Given the description of an element on the screen output the (x, y) to click on. 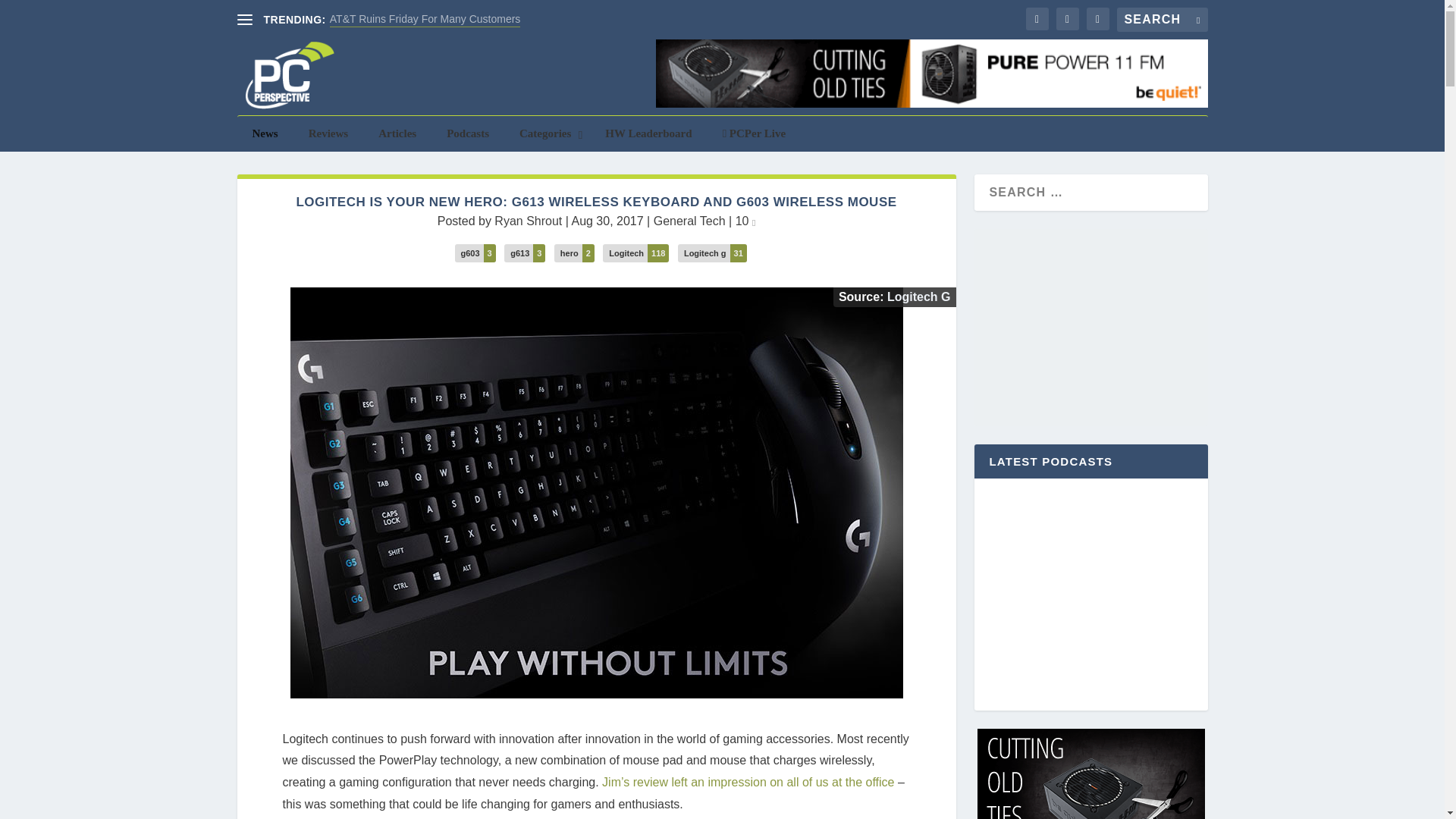
Articles (396, 133)
Podcasts (466, 133)
Search for: (1161, 19)
Posts by Ryan Shrout (528, 220)
PCPer Live (754, 133)
Reviews (329, 133)
HW Leaderboard (647, 133)
Categories (546, 133)
News (263, 133)
